Given the description of an element on the screen output the (x, y) to click on. 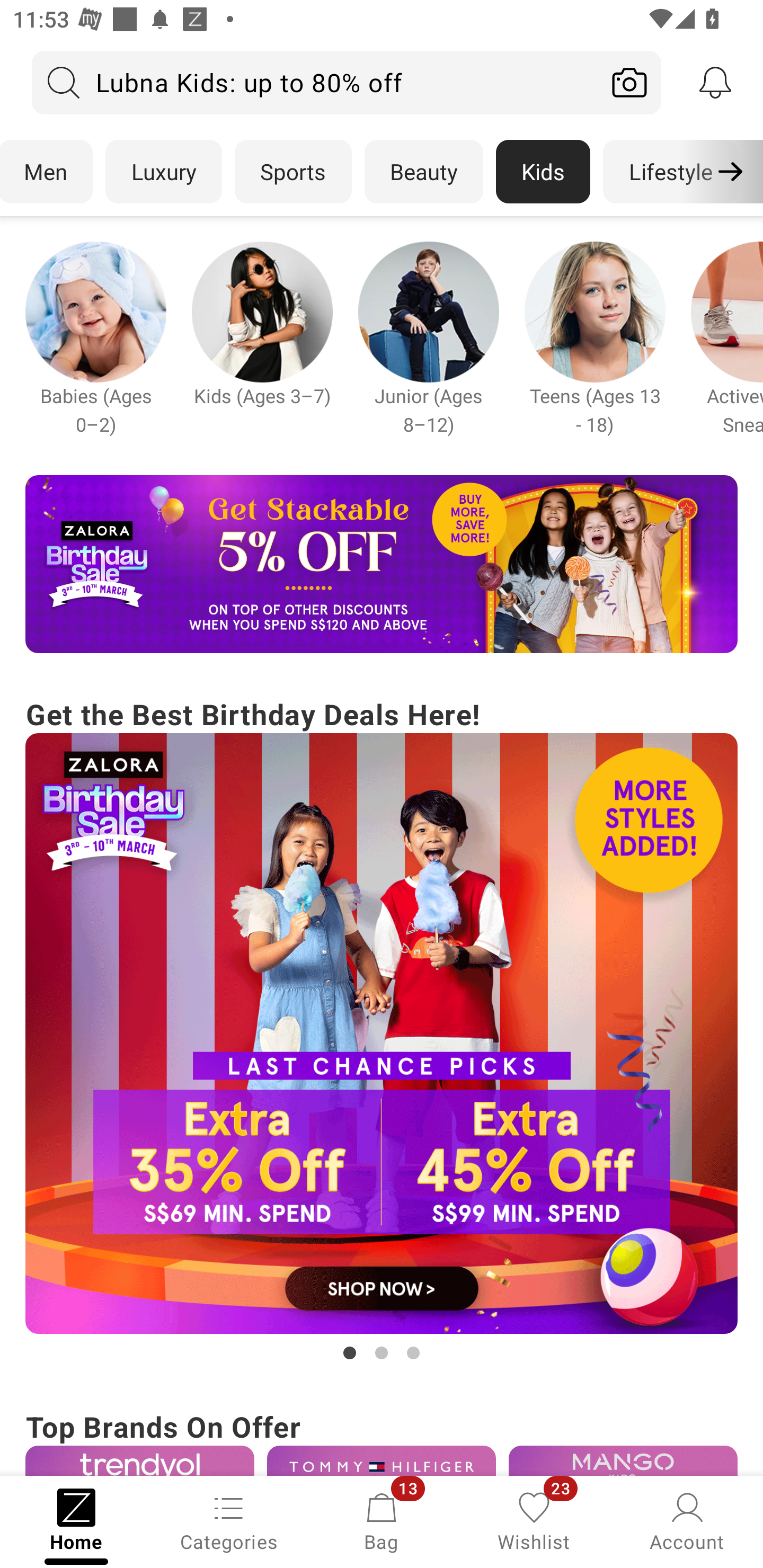
Lubna Kids: up to 80% off (314, 82)
Men (46, 171)
Luxury (163, 171)
Sports (293, 171)
Beauty (423, 171)
Kids (542, 171)
Lifestyle (669, 171)
Campaign banner (95, 311)
Campaign banner (261, 311)
Campaign banner (428, 311)
Campaign banner (594, 311)
Campaign banner (381, 564)
Get the Best Birthday Deals Here! Campaign banner (381, 1028)
Campaign banner (381, 1033)
Categories (228, 1519)
Bag, 13 new notifications Bag (381, 1519)
Wishlist, 23 new notifications Wishlist (533, 1519)
Account (686, 1519)
